Given the description of an element on the screen output the (x, y) to click on. 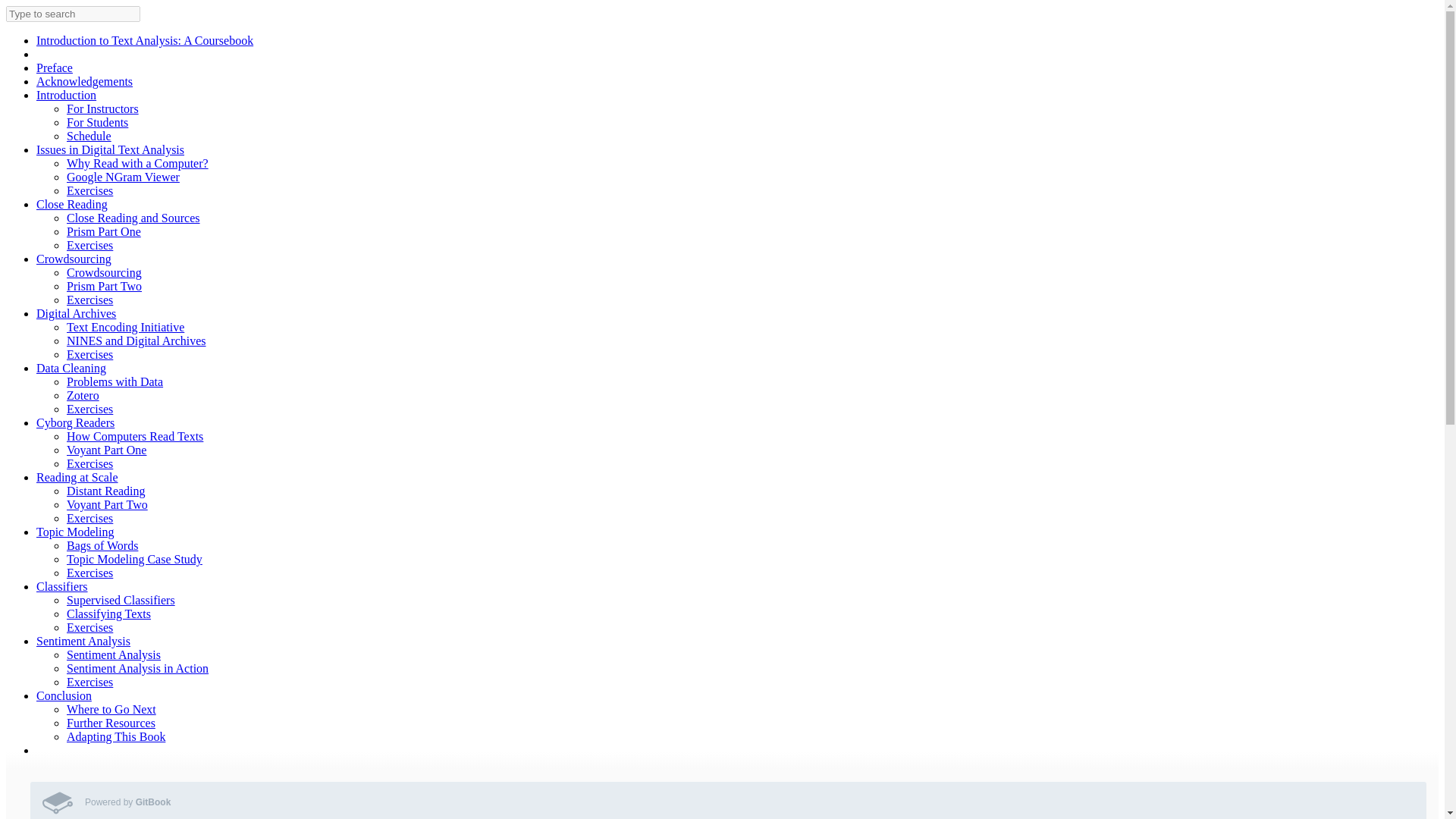
Topic Modeling Case Study (134, 558)
Data Cleaning (71, 367)
Why Read with a Computer? (137, 163)
Bags of Words (102, 545)
Exercises (89, 463)
Exercises (89, 408)
Cyborg Readers (75, 422)
Acknowledgements (84, 81)
Exercises (89, 299)
Exercises (89, 354)
